Given the description of an element on the screen output the (x, y) to click on. 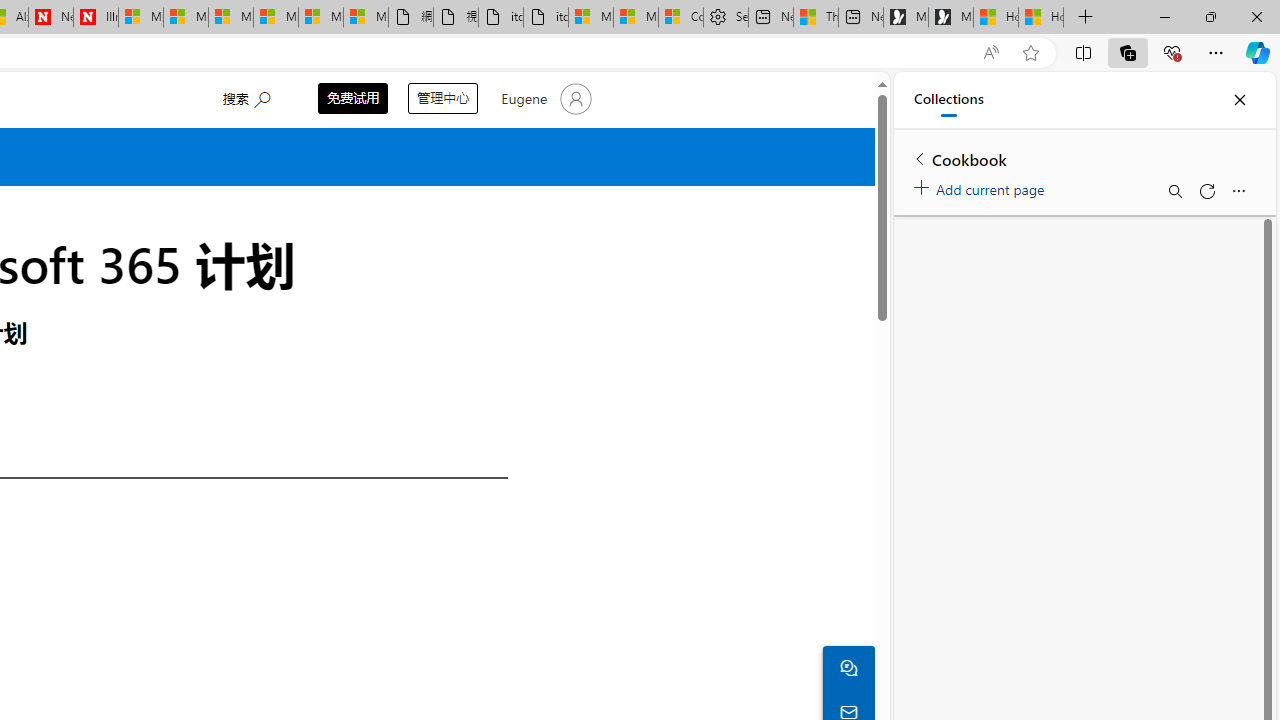
How to Use a TV as a Computer Monitor (1040, 17)
More options menu (1238, 190)
Consumer Health Data Privacy Policy (680, 17)
Newsweek - News, Analysis, Politics, Business, Technology (50, 17)
